Given the description of an element on the screen output the (x, y) to click on. 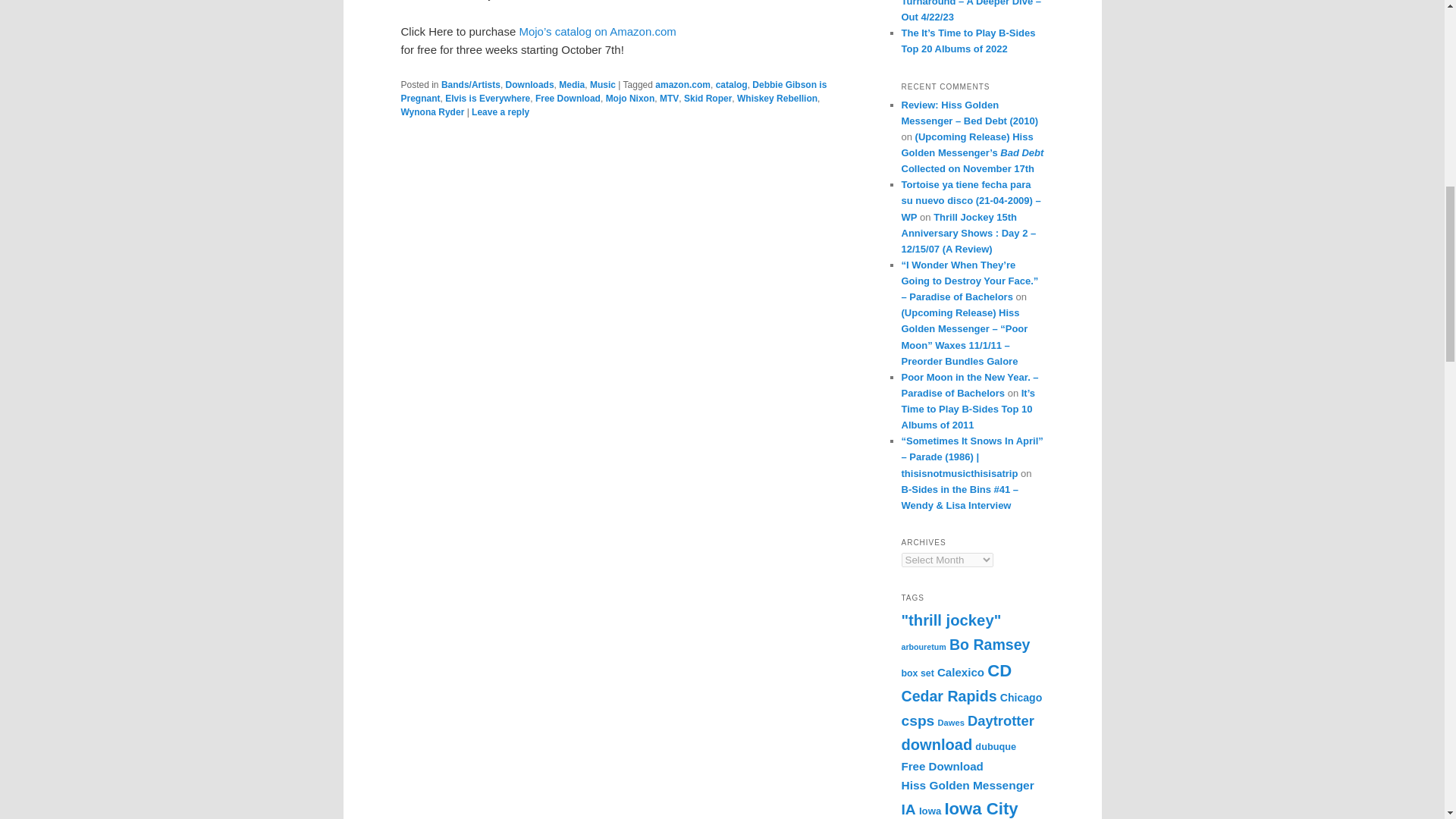
Mojo Nixon (630, 98)
amazon.com (682, 84)
Music (602, 84)
Debbie Gibson is Pregnant (613, 91)
Click Here (426, 0)
Wynona Ryder (432, 112)
Whiskey Rebellion (776, 98)
Free Download (567, 98)
Elvis is Everywhere (487, 98)
catalog (732, 84)
Downloads (529, 84)
Skid Roper (708, 98)
MTV (668, 98)
Media (572, 84)
Leave a reply (500, 112)
